Given the description of an element on the screen output the (x, y) to click on. 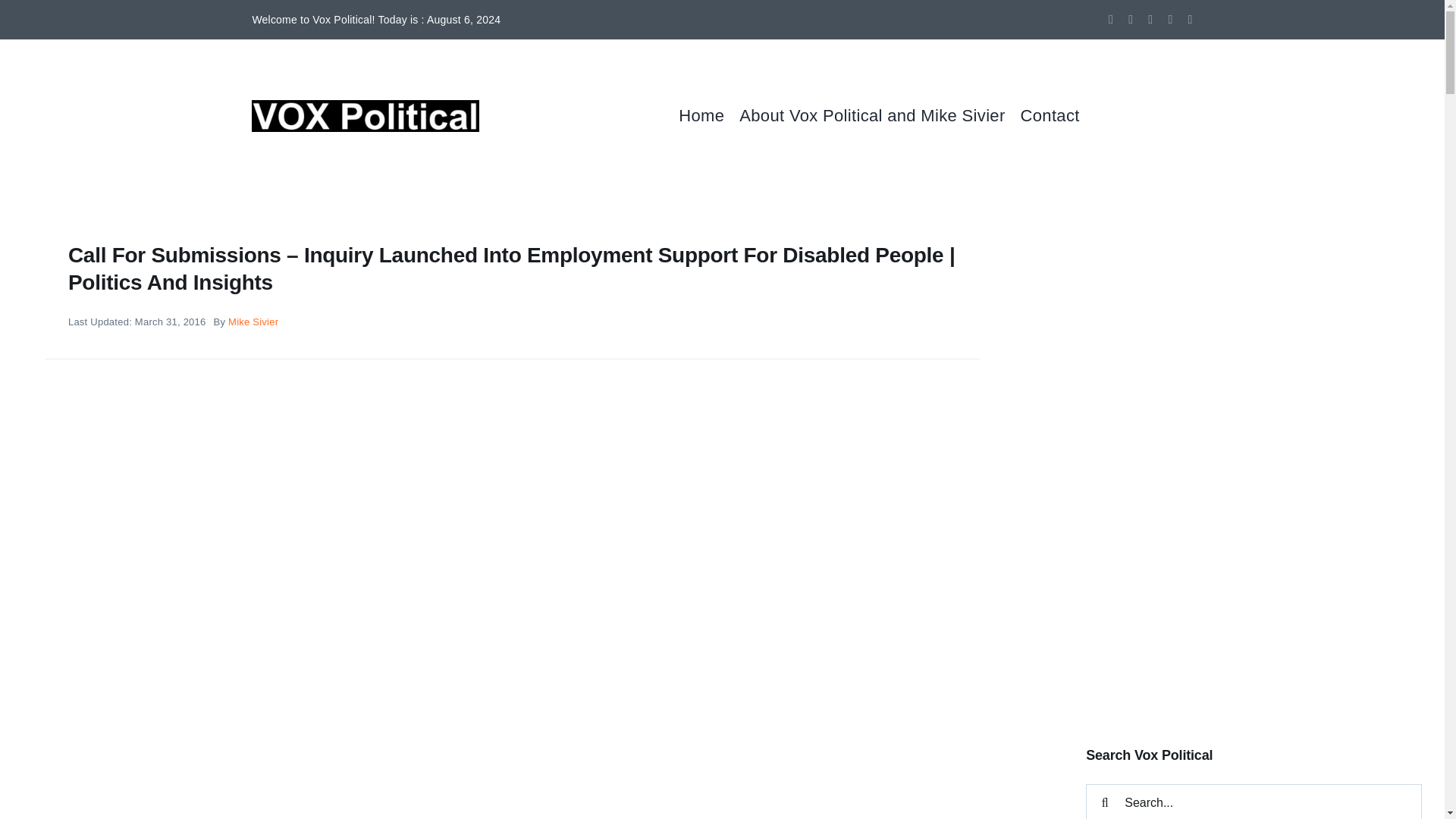
Mike Sivier (253, 321)
Posts by Mike Sivier (253, 321)
Advertisement (1254, 598)
About Vox Political and Mike Sivier (879, 115)
Home (708, 115)
Contact (1057, 115)
